Given the description of an element on the screen output the (x, y) to click on. 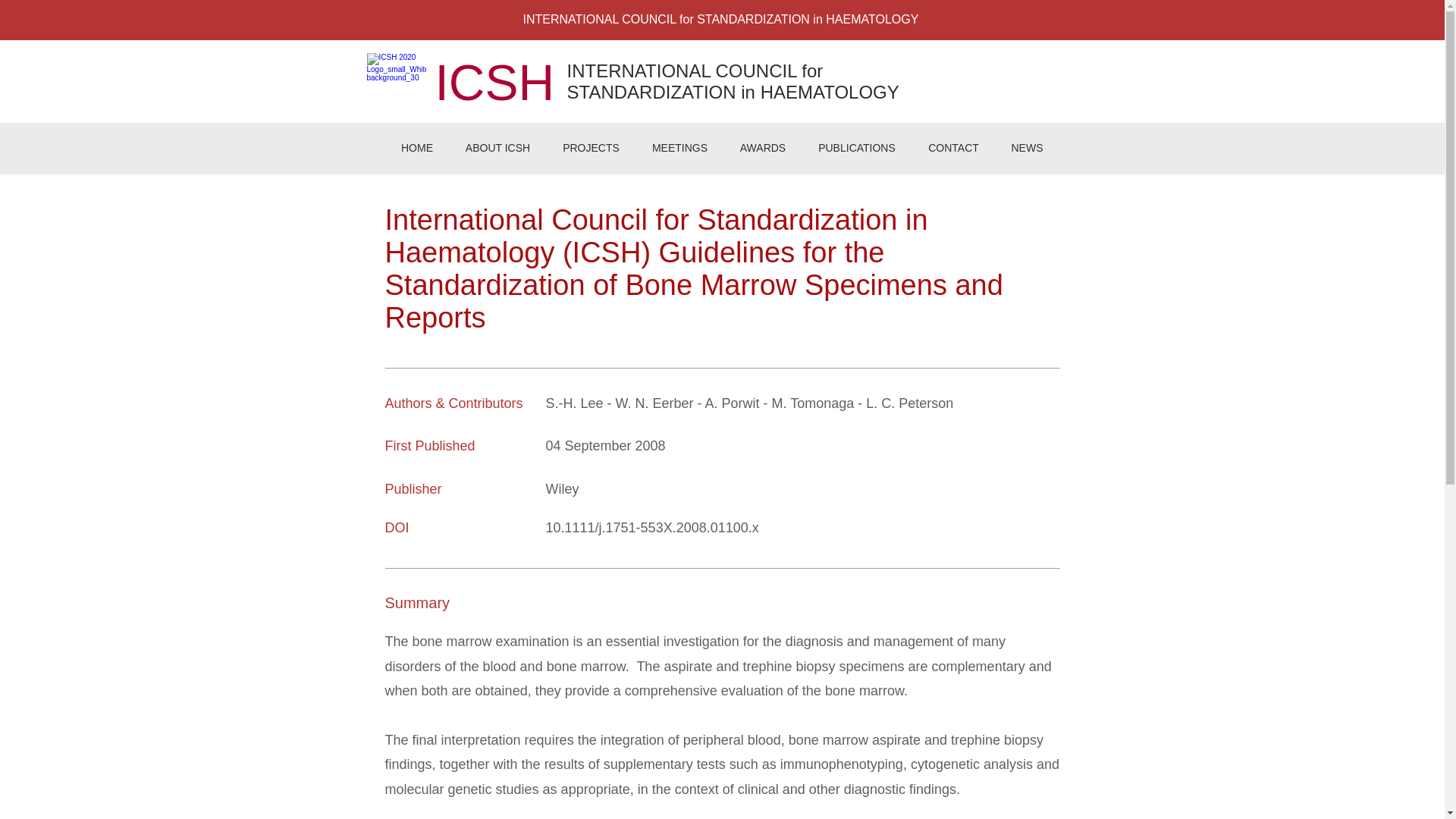
INTERNATIONAL COUNCIL for STANDARDIZATION in HAEMATOLOGY (733, 81)
AWARDS (762, 148)
ABOUT ICSH (497, 148)
NEWS (1026, 148)
HOME (417, 148)
PROJECTS (590, 148)
PUBLICATIONS (857, 148)
CONTACT (952, 148)
ICSH (494, 82)
MEETINGS (678, 148)
